Given the description of an element on the screen output the (x, y) to click on. 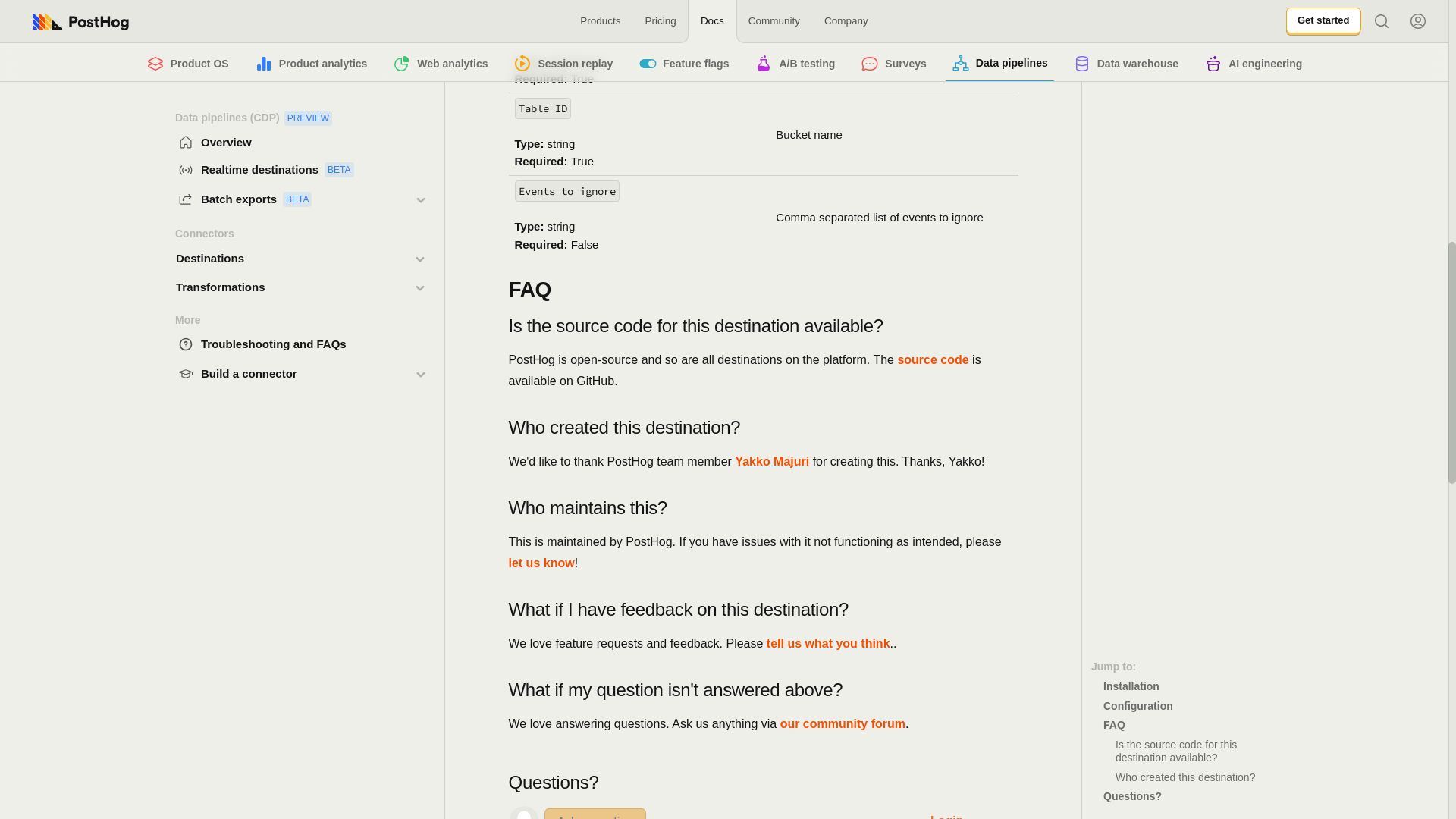
Who maintains this? (762, 507)
Who created this destination? (762, 427)
What if I have feedback on this destination? (762, 609)
FAQ (762, 289)
What if my question isn't answered above? (762, 689)
Is the source code for this destination available? (762, 325)
